Given the description of an element on the screen output the (x, y) to click on. 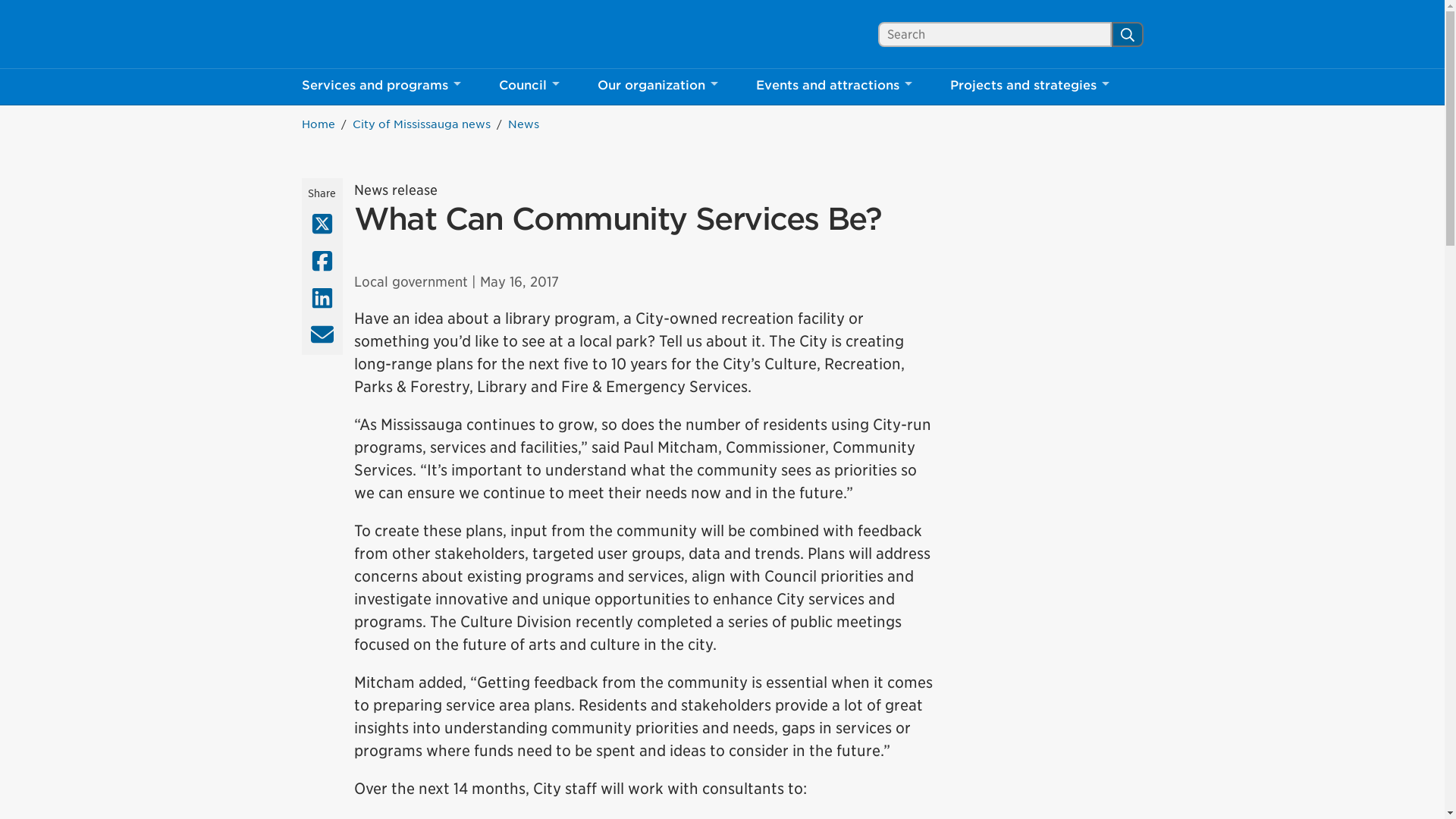
Services and programs (380, 86)
Search (1127, 33)
Council (369, 33)
Events and attractions (528, 86)
City of Mississauga Homepage (833, 86)
City of Mississauga home (369, 33)
Our organization (369, 33)
